Given the description of an element on the screen output the (x, y) to click on. 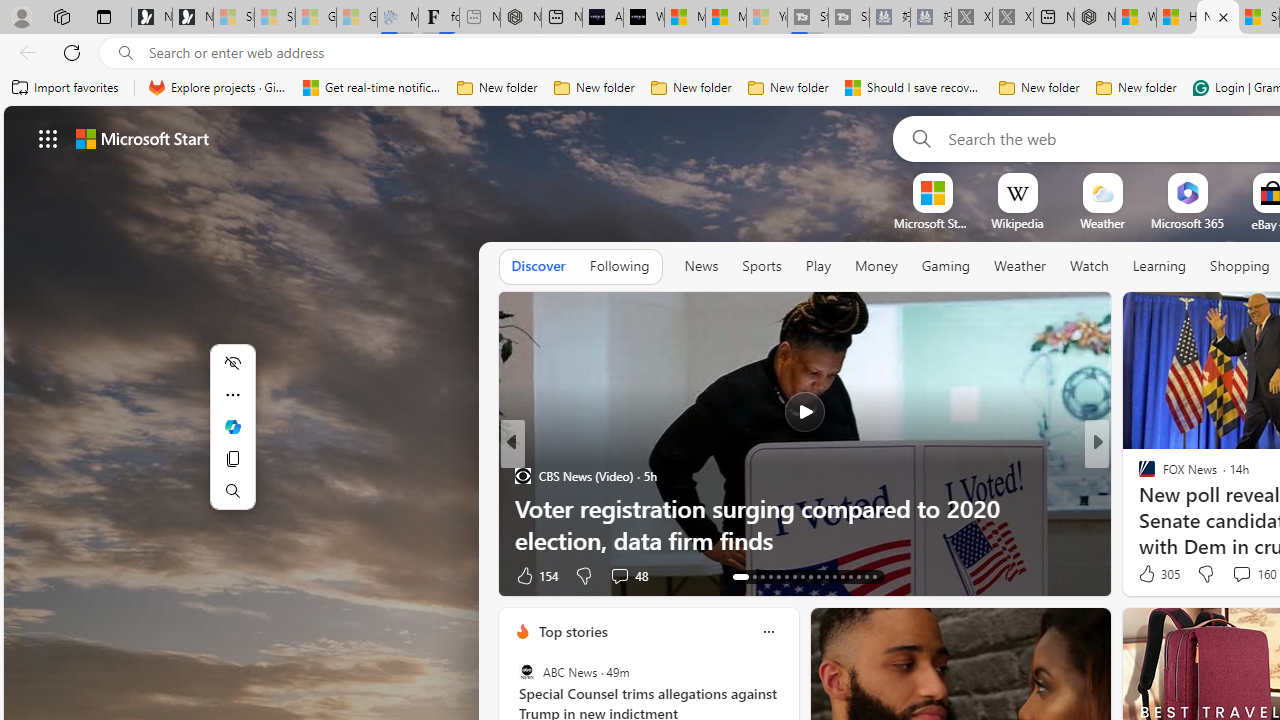
Cents + Purpose (1138, 507)
Play (817, 265)
